Given the description of an element on the screen output the (x, y) to click on. 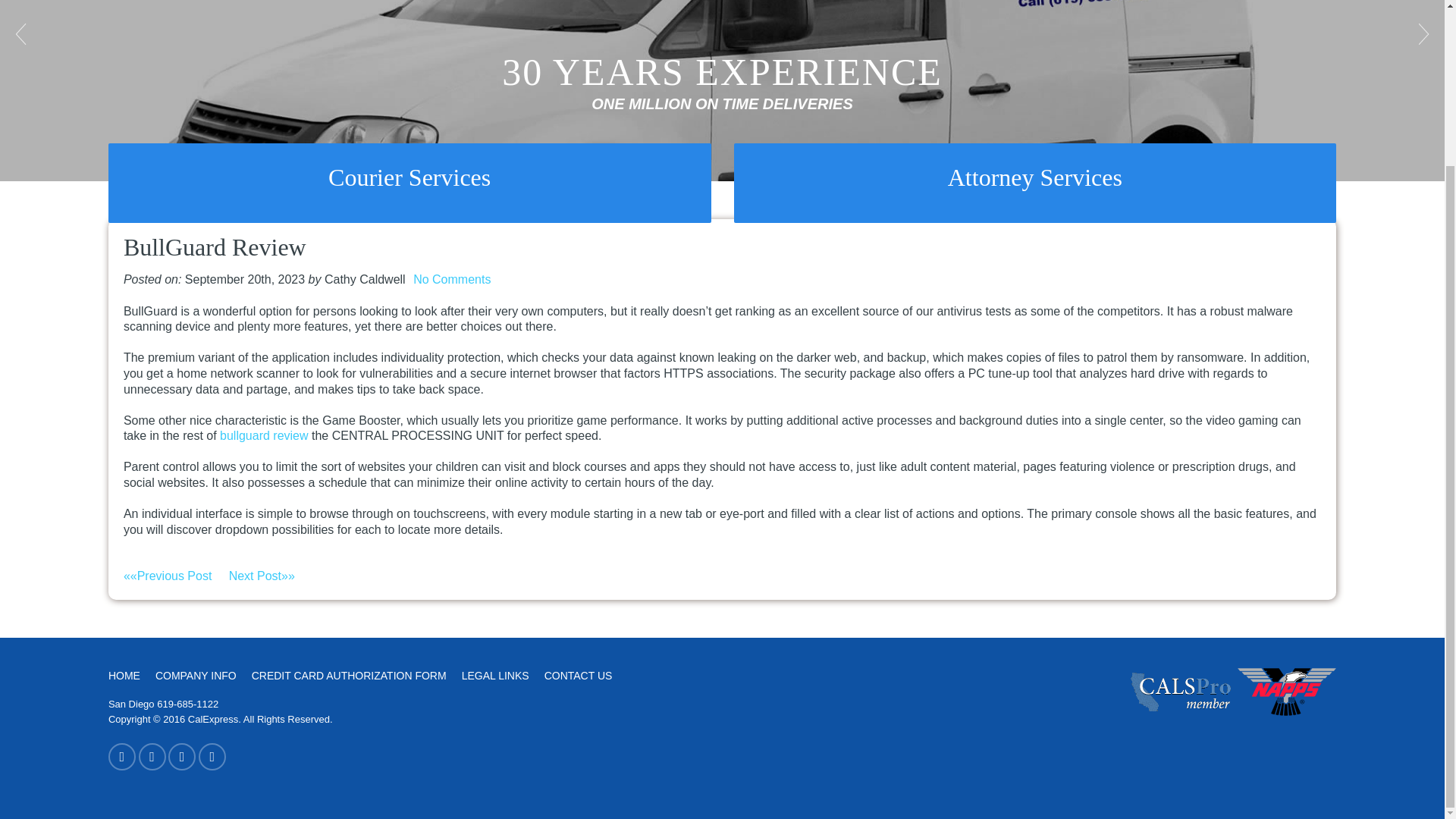
Courier Services (409, 177)
CONTACT US (578, 675)
Previous (22, 33)
CREDIT CARD AUTHORIZATION FORM (348, 675)
Attorney Services (1035, 177)
LEGAL LINKS (495, 675)
HOME (123, 675)
bullguard review (263, 435)
COMPANY INFO (195, 675)
No Comments (452, 278)
